Given the description of an element on the screen output the (x, y) to click on. 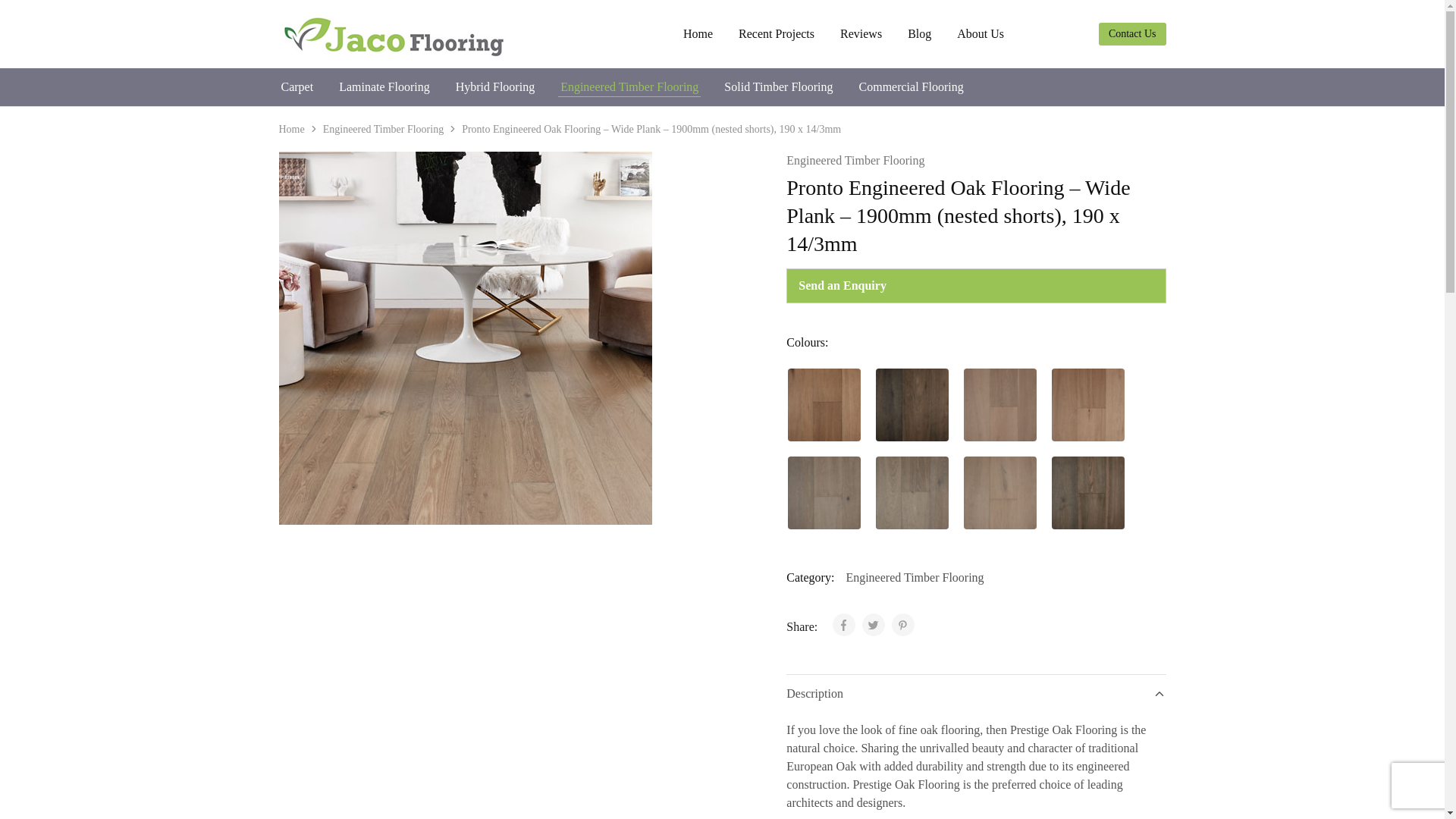
Contact Us (1132, 33)
Home (291, 129)
Recent Projects (776, 33)
Commercial Flooring (911, 86)
Reviews (860, 33)
Carpet (297, 86)
Home (697, 33)
About Us (980, 33)
Engineered Timber Flooring (855, 160)
Blog (919, 33)
